Given the description of an element on the screen output the (x, y) to click on. 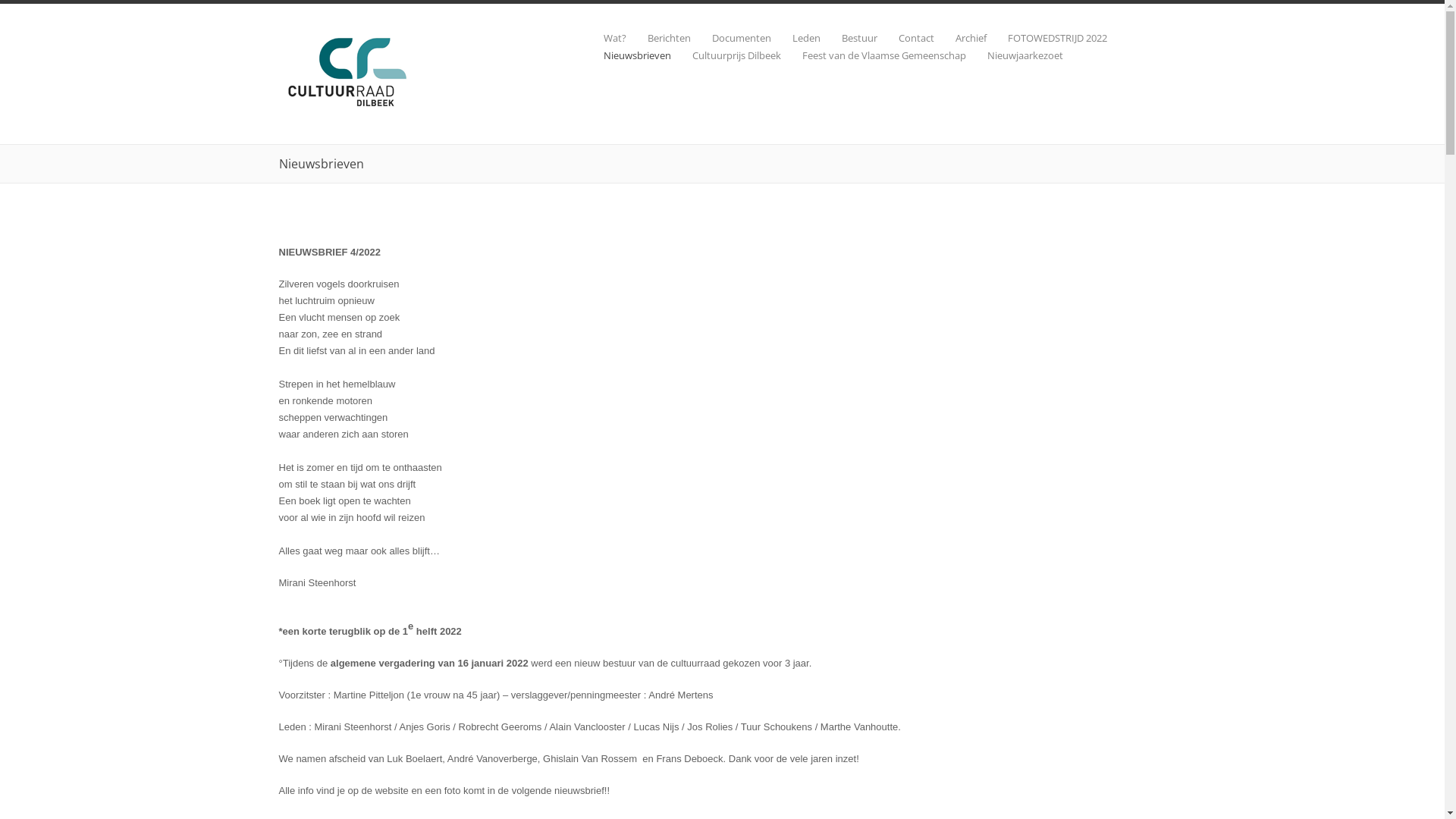
Berichten Element type: text (658, 38)
Nieuwsbrieven Element type: text (626, 55)
Bestuur Element type: text (848, 38)
Archief Element type: text (960, 38)
Cultuurprijs Dilbeek Element type: text (725, 55)
Nieuwjaarkezoet Element type: text (1014, 55)
Documenten Element type: text (730, 38)
Leden Element type: text (794, 38)
Feest van de Vlaamse Gemeenschap Element type: text (873, 55)
Wat? Element type: text (604, 38)
FOTOWEDSTRIJD 2022 Element type: text (1045, 38)
Contact Element type: text (904, 38)
Cultuurraad Dilbeek Element type: hover (350, 105)
